Given the description of an element on the screen output the (x, y) to click on. 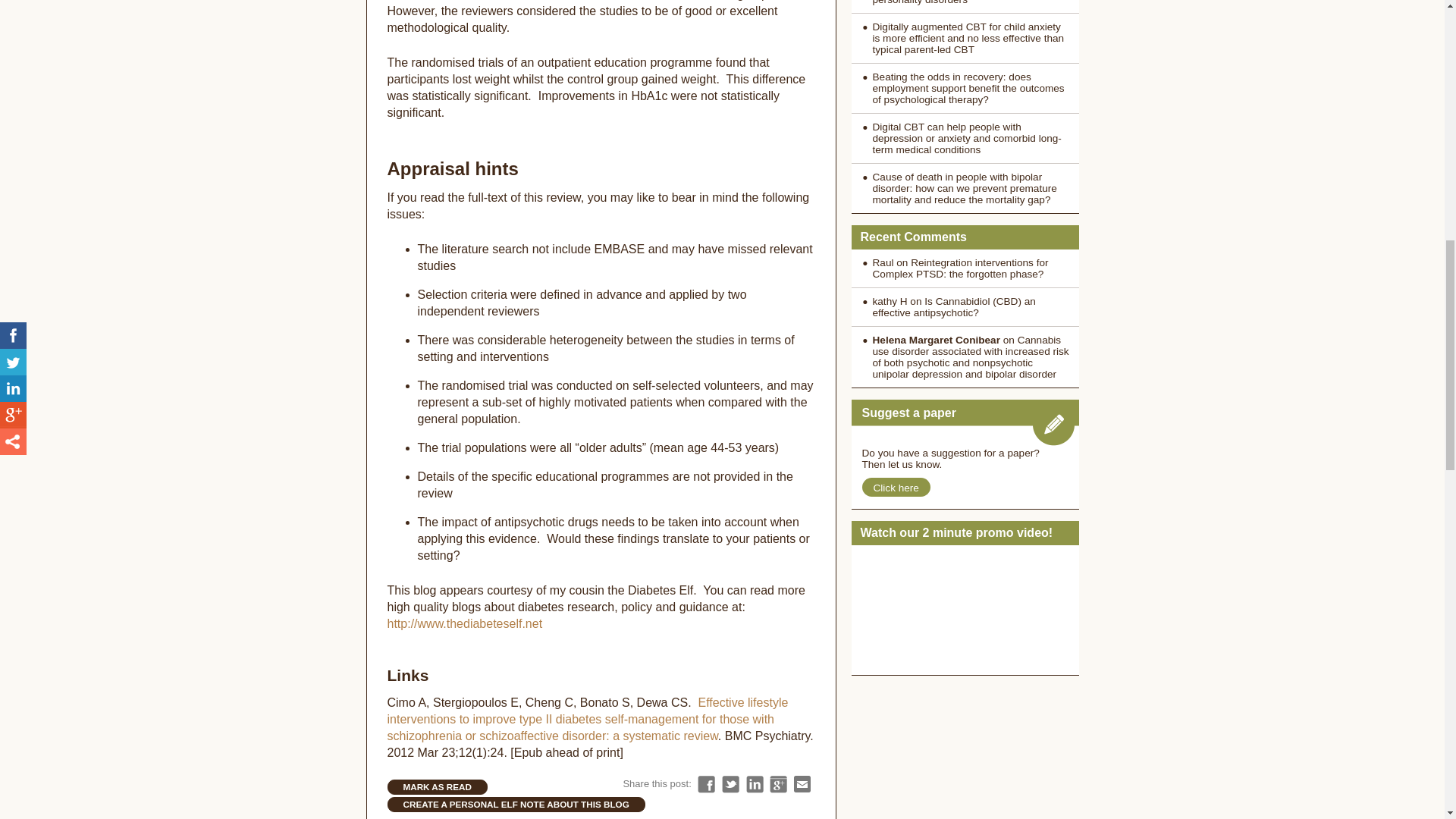
Share via email (801, 784)
Tweet this on Twitter (730, 784)
Get the full text from Biomed Central (587, 719)
Share on LinkedIn (753, 784)
Share on Facebook (705, 784)
